Given the description of an element on the screen output the (x, y) to click on. 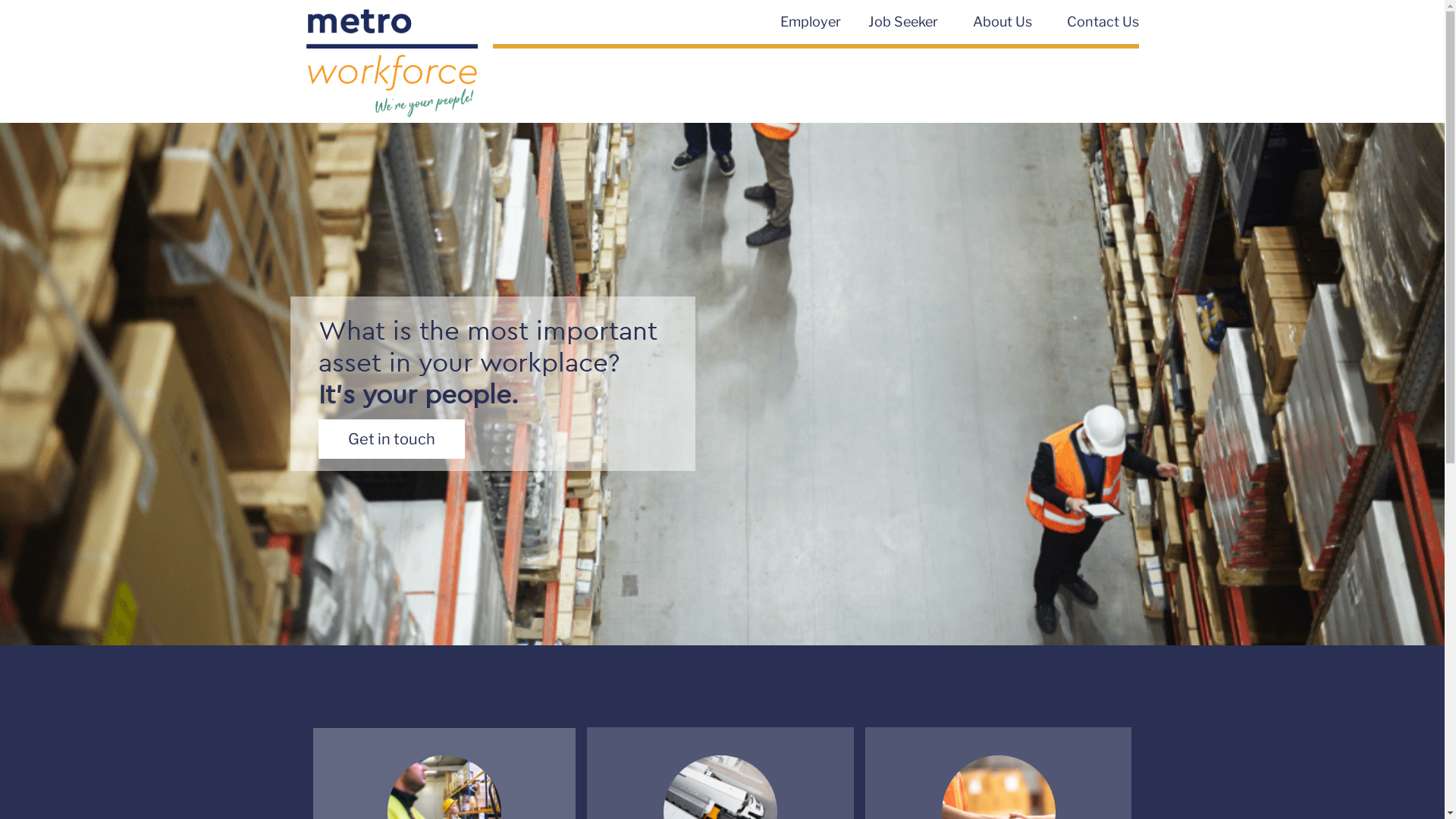
Contact Us Element type: text (1102, 21)
Employer Element type: text (810, 21)
About Us Element type: text (1006, 21)
Get in touch Element type: text (391, 438)
Job Seeker Element type: text (906, 21)
